Given the description of an element on the screen output the (x, y) to click on. 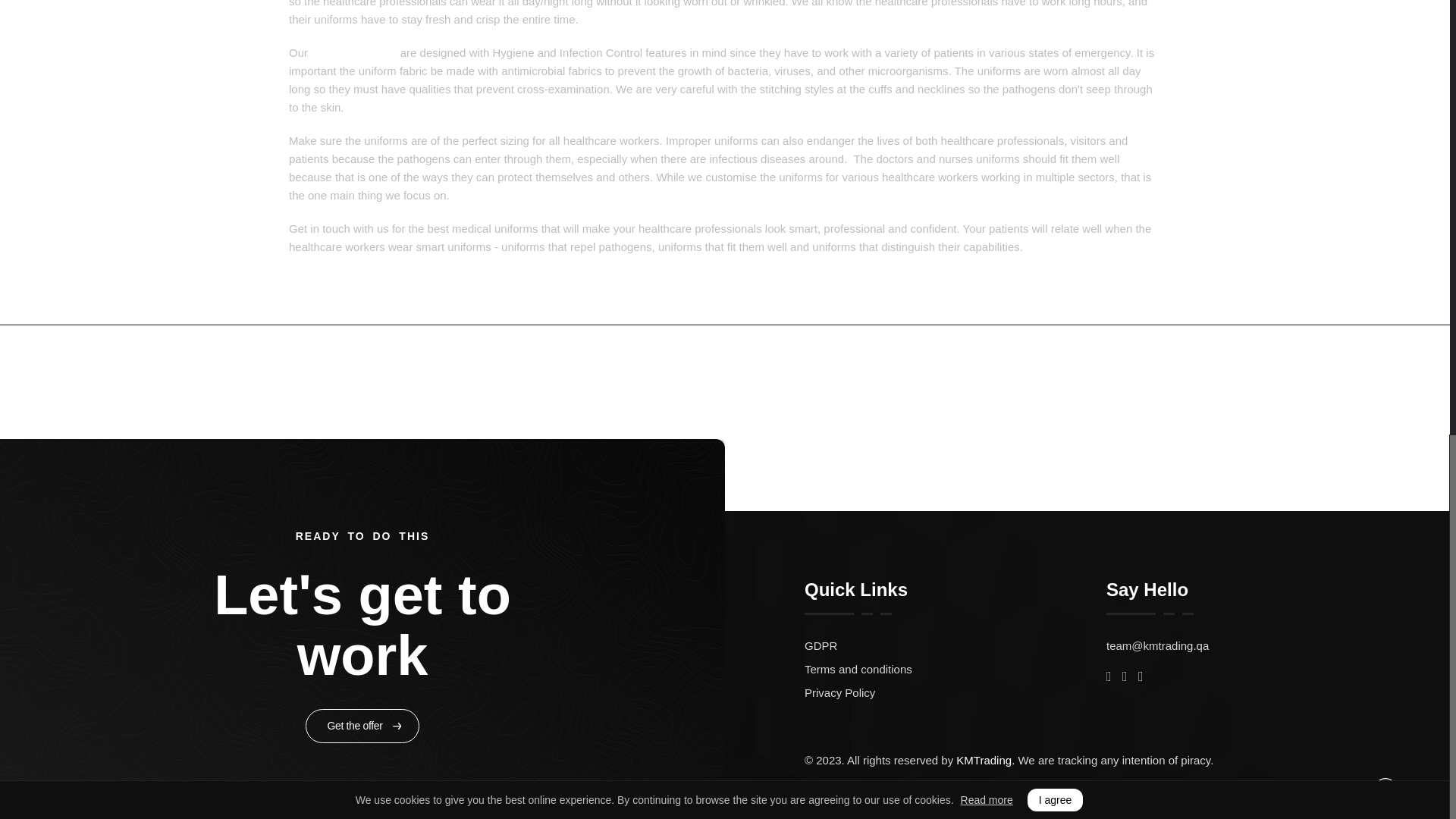
KMTrading. (985, 759)
Privacy Policy (955, 692)
medical uniforms (353, 51)
Get the offer (362, 725)
Contact (1103, 380)
GDPR (955, 645)
Terms and conditions (955, 668)
